Given the description of an element on the screen output the (x, y) to click on. 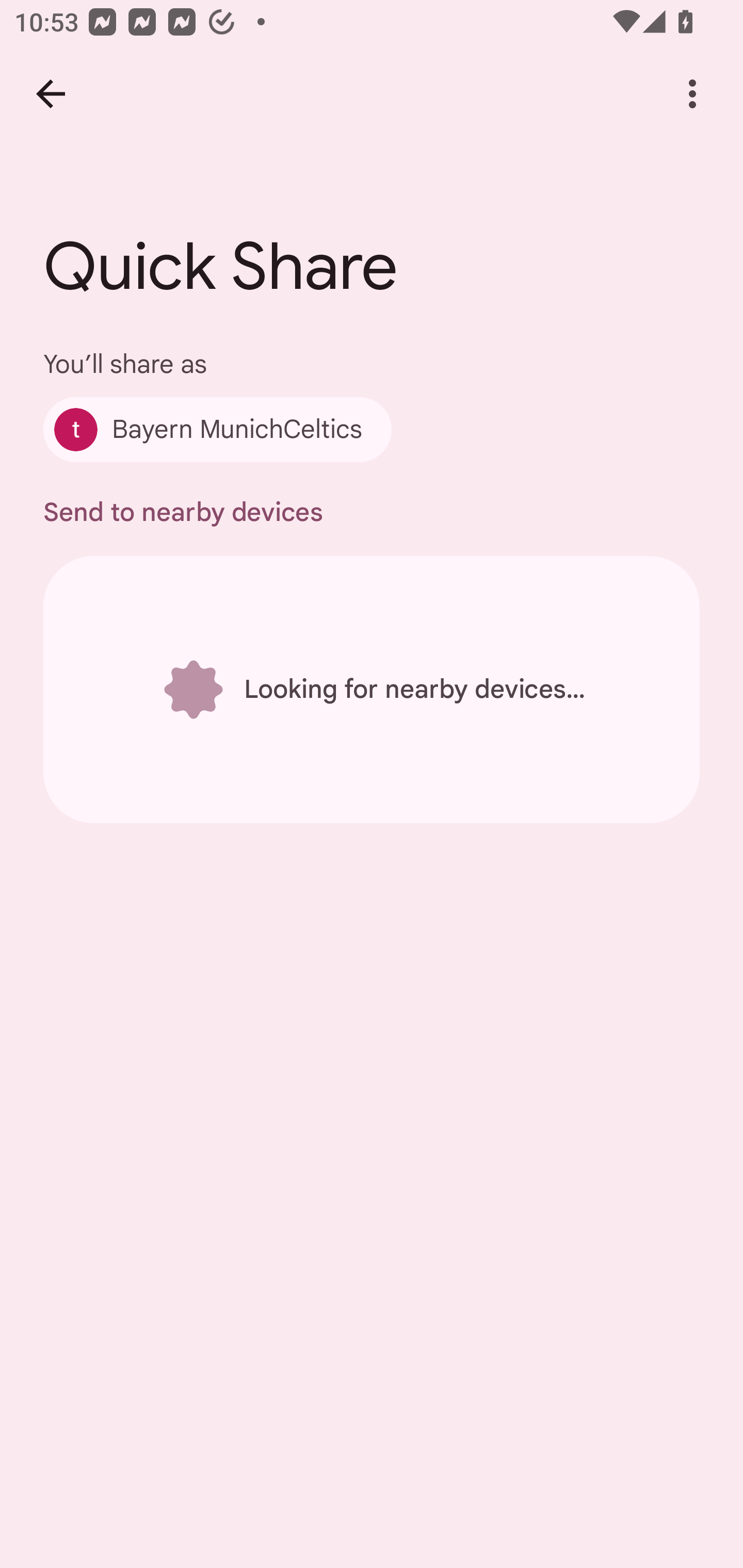
Back (50, 93)
More (692, 93)
Bayern MunichCeltics (217, 429)
